Given the description of an element on the screen output the (x, y) to click on. 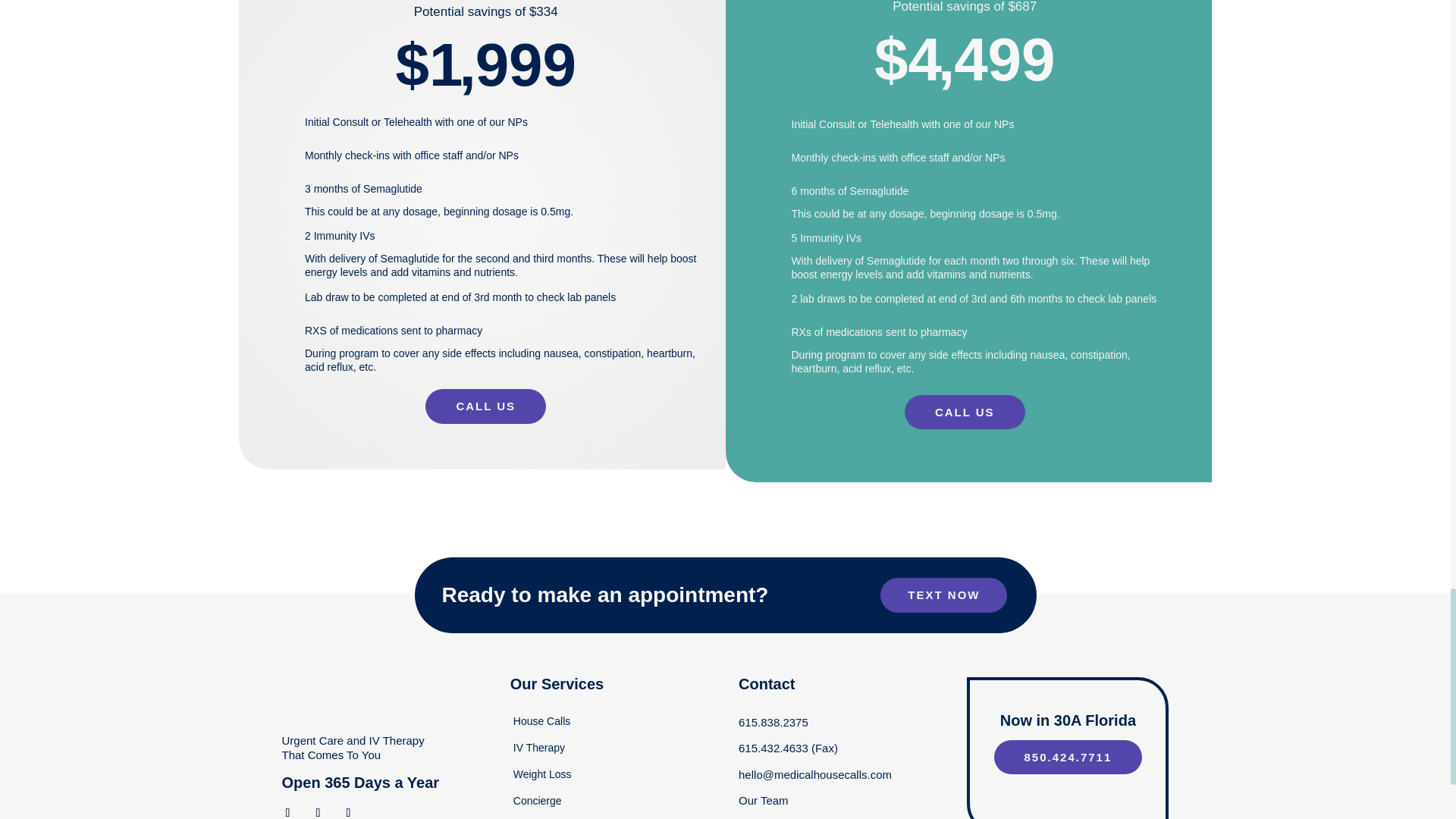
Follow on Facebook (287, 809)
Follow on LinkedIn (348, 809)
Follow on Instagram (317, 809)
